Given the description of an element on the screen output the (x, y) to click on. 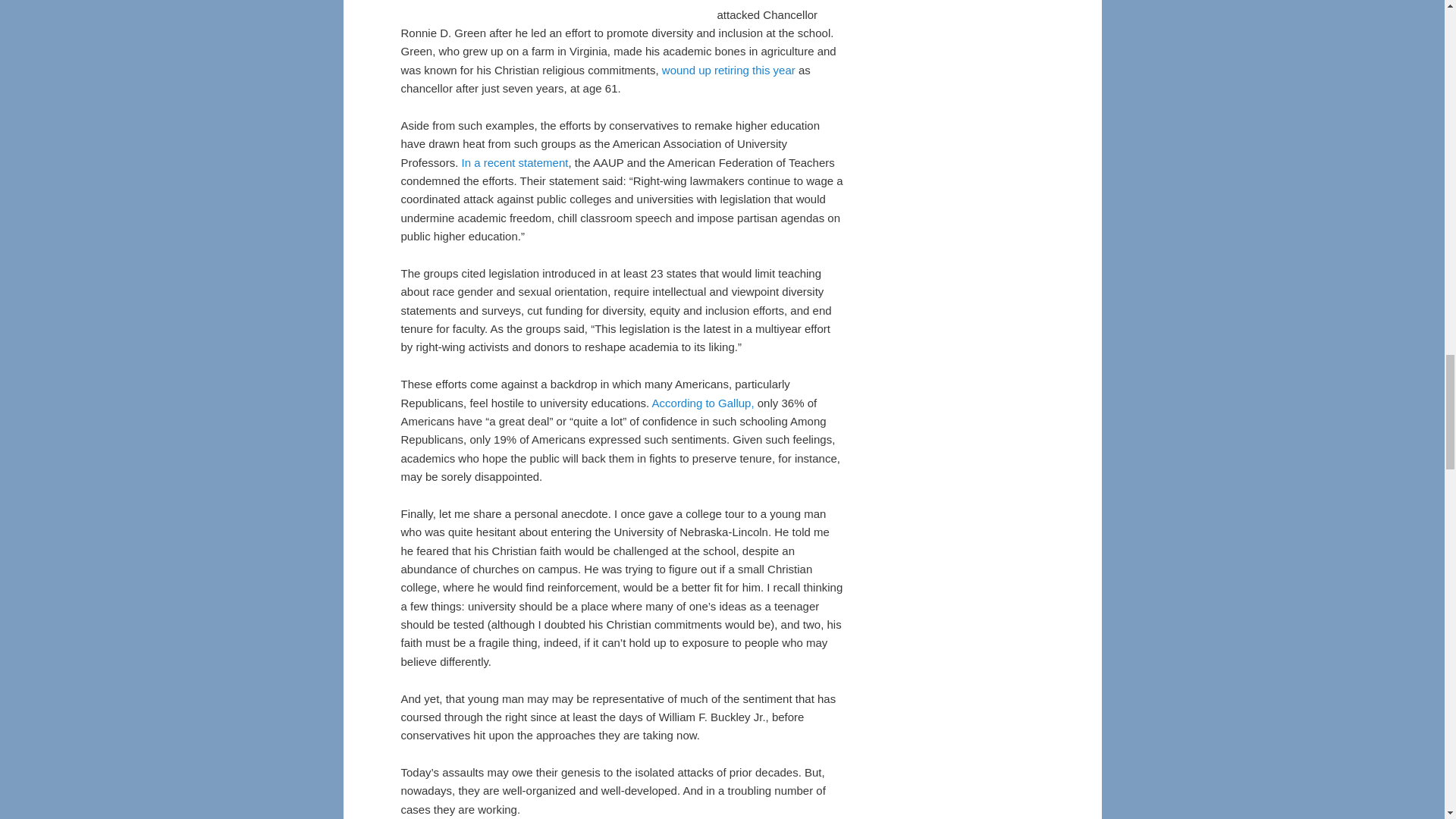
wound up retiring this year (728, 69)
In a recent statement (515, 162)
According to Gallup, (703, 402)
